Given the description of an element on the screen output the (x, y) to click on. 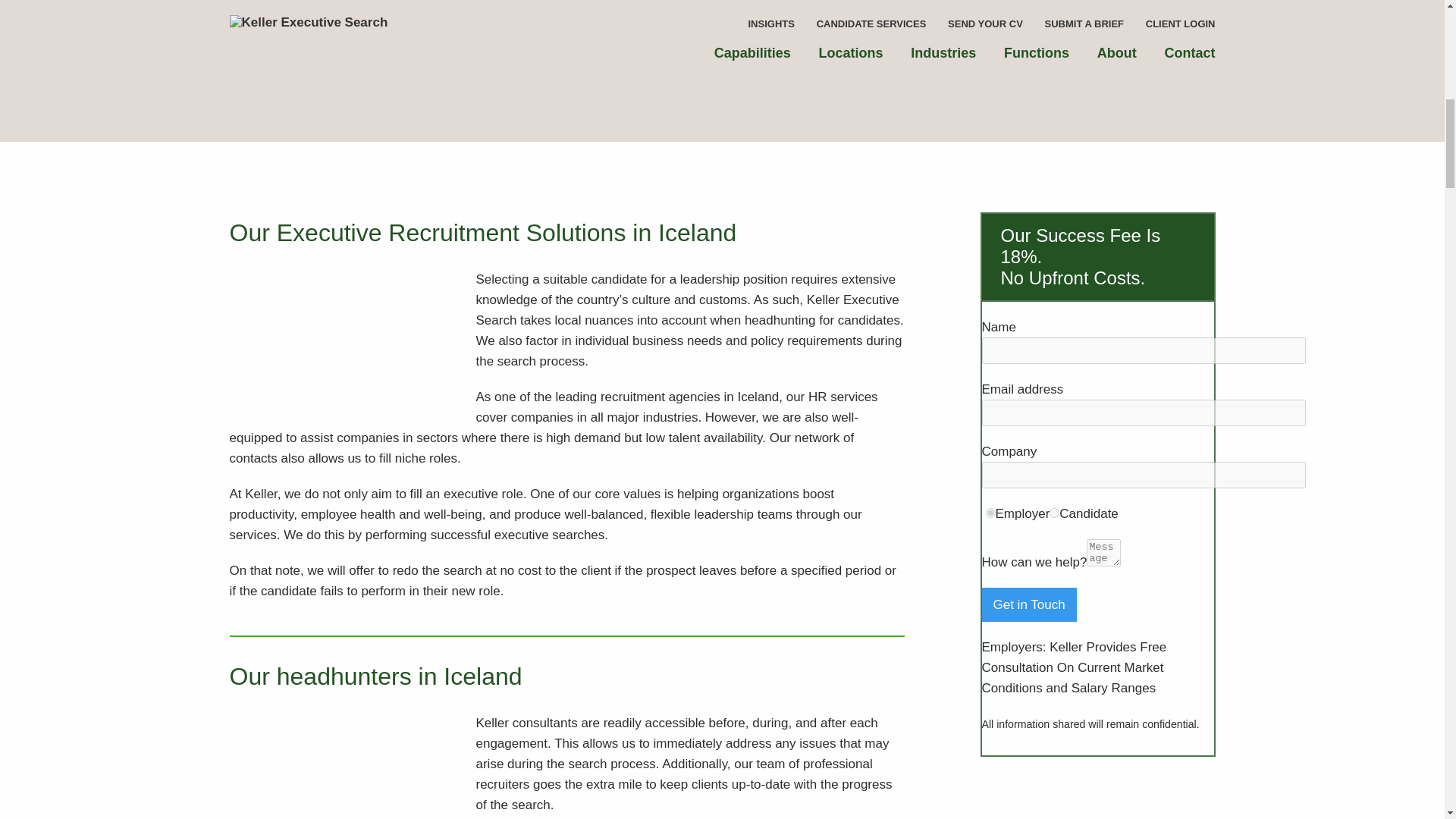
Employer (990, 512)
brooke-cagle-g1Kr4Ozfoac-unsplash (338, 342)
iceland-splash (387, 22)
Get in Touch (1028, 604)
Candidate (1054, 512)
